Given the description of an element on the screen output the (x, y) to click on. 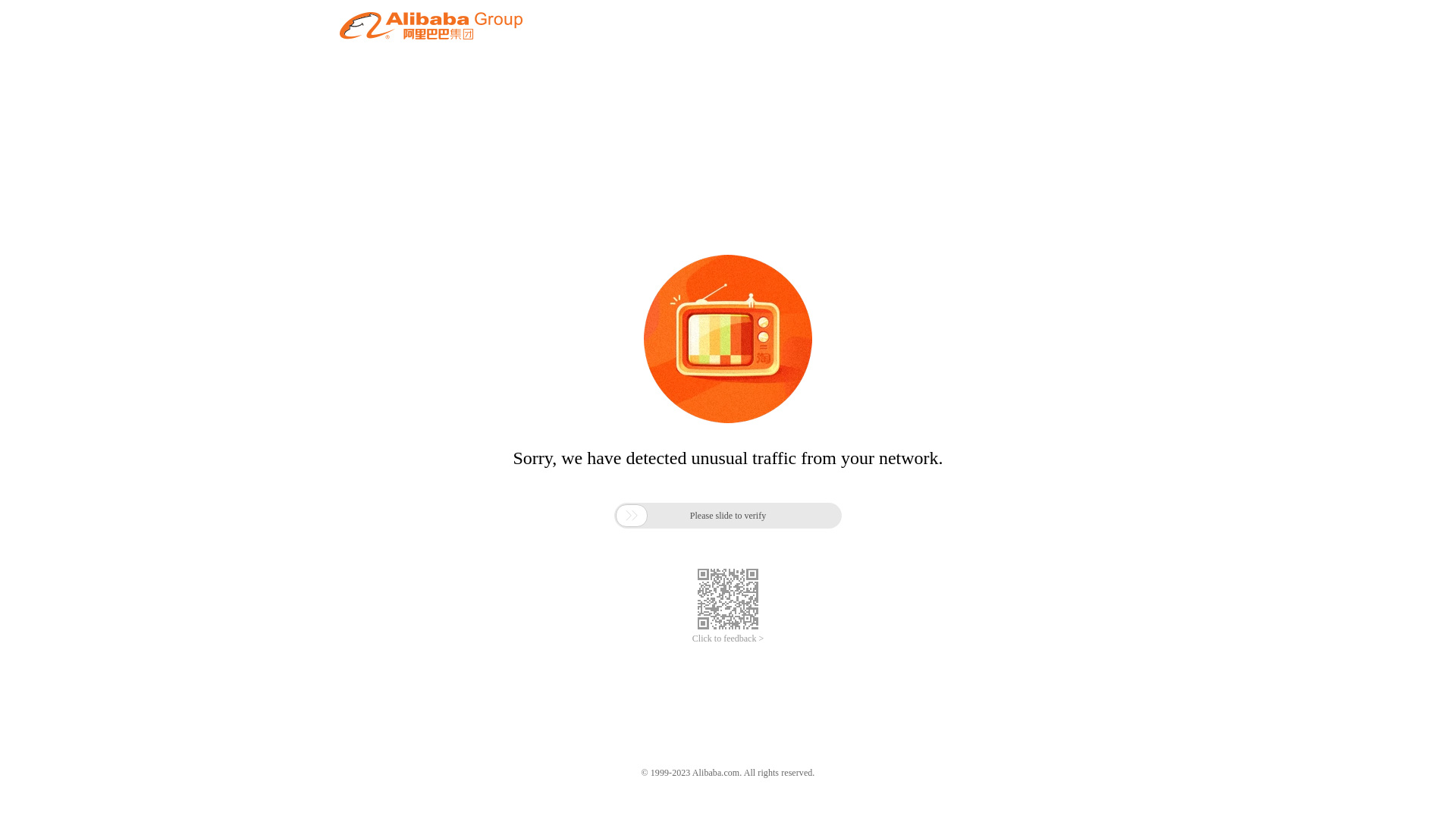
Click to feedback > Element type: text (727, 638)
